Given the description of an element on the screen output the (x, y) to click on. 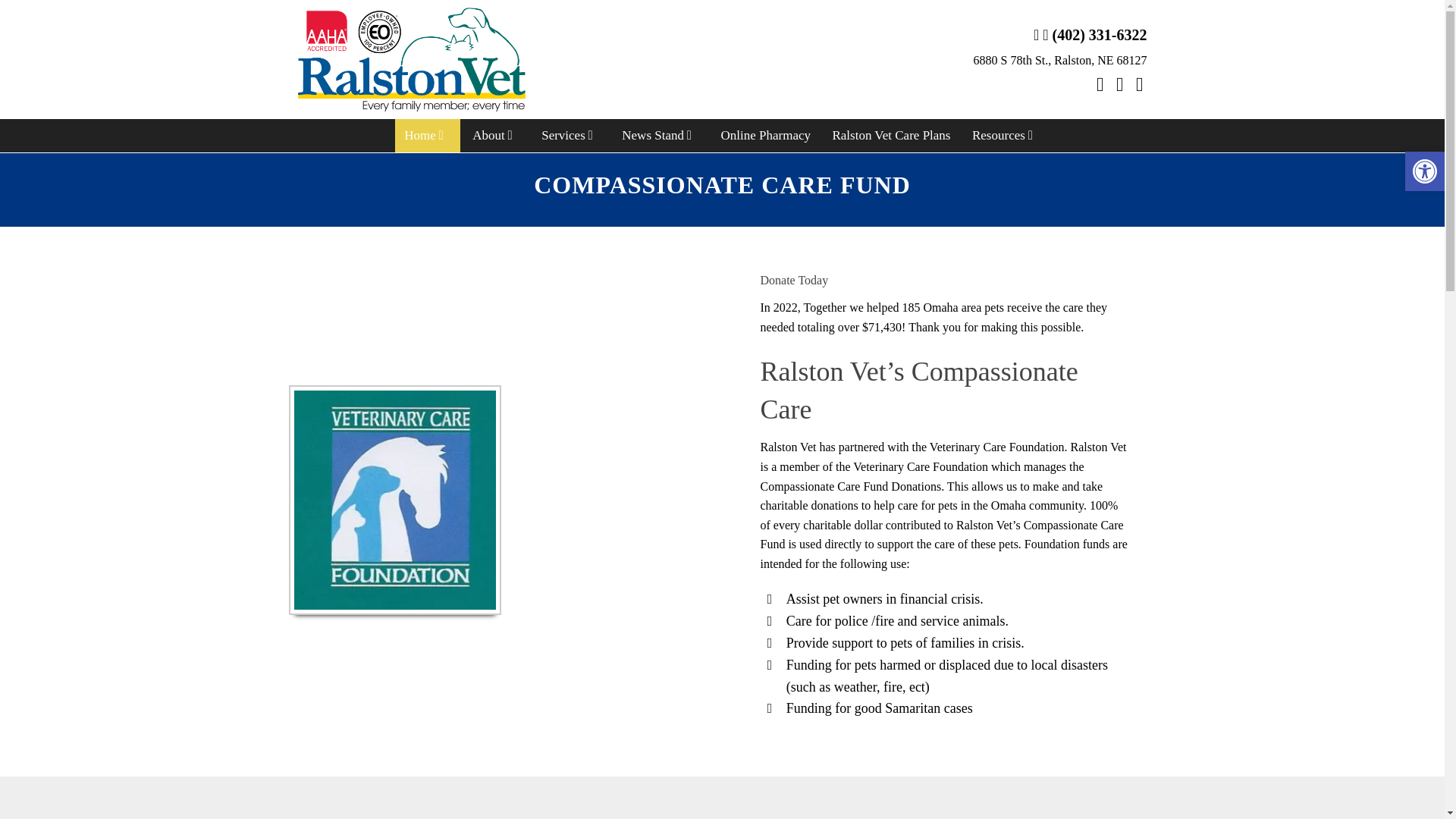
Services (571, 135)
6880 S 78th St., Ralston, NE 68127 (1060, 60)
Ralston Vet Care Plans (890, 135)
Home (427, 135)
News Stand (659, 135)
Accessibility Tools (1424, 170)
About (496, 135)
Resources (1005, 135)
Online Pharmacy (765, 135)
